Given the description of an element on the screen output the (x, y) to click on. 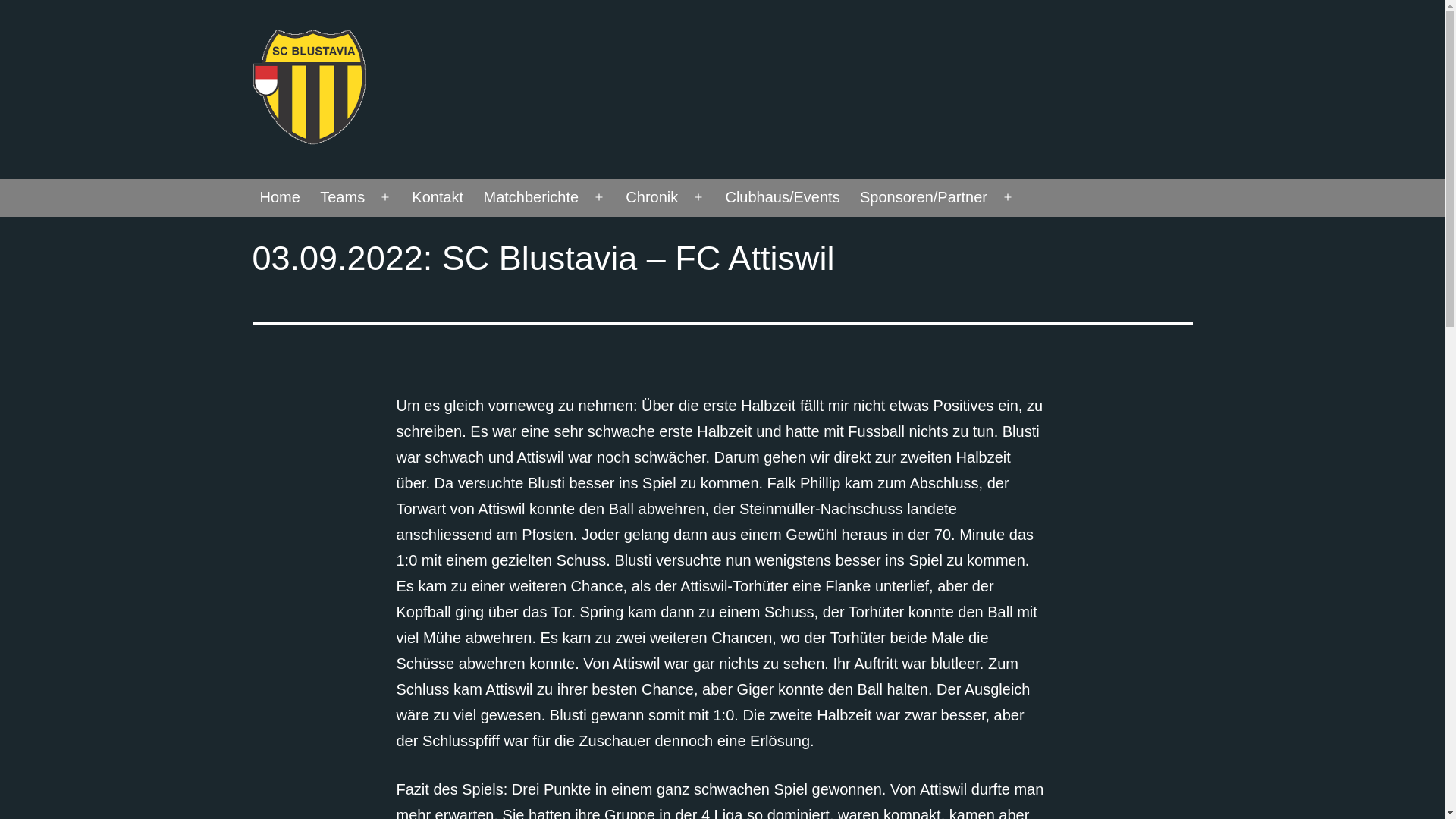
Chronik Element type: text (651, 197)
Kontakt Element type: text (437, 197)
Clubhaus/Events Element type: text (782, 197)
Sponsoren/Partner Element type: text (923, 197)
Matchberichte Element type: text (530, 197)
Open menu Element type: text (698, 197)
Open menu Element type: text (598, 197)
Teams Element type: text (342, 197)
Open menu Element type: text (384, 197)
Open menu Element type: text (1007, 197)
Home Element type: text (279, 197)
